Given the description of an element on the screen output the (x, y) to click on. 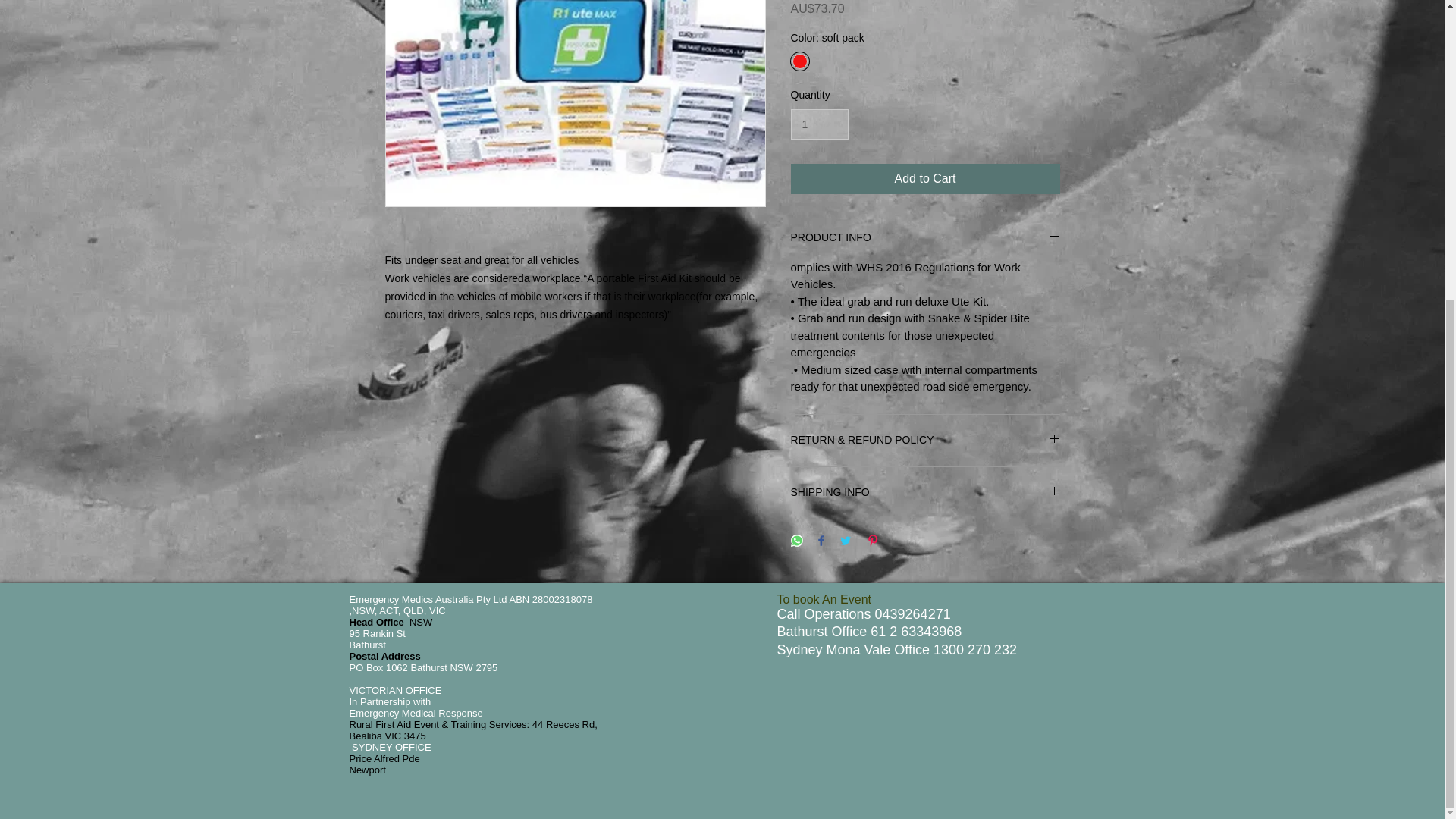
SHIPPING INFO (924, 493)
PRODUCT INFO (924, 238)
Add to Cart (924, 178)
1 (818, 124)
